Given the description of an element on the screen output the (x, y) to click on. 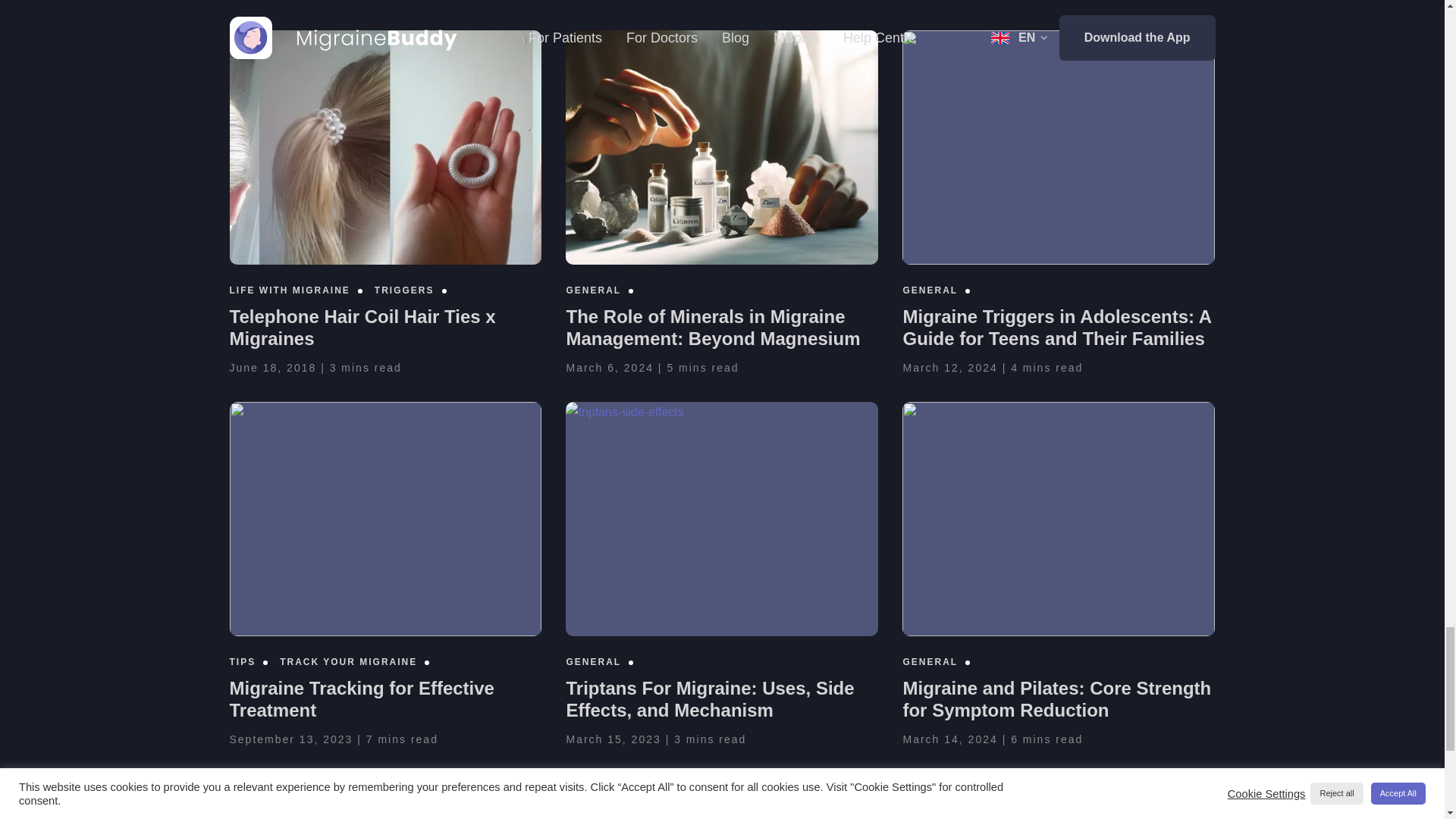
GENERAL (593, 290)
GENERAL (930, 290)
Telephone Hair Coil Hair Ties x Migraines (361, 327)
TRIGGERS (403, 290)
LIFE WITH MIGRAINE (288, 290)
TIPS (242, 661)
